Given the description of an element on the screen output the (x, y) to click on. 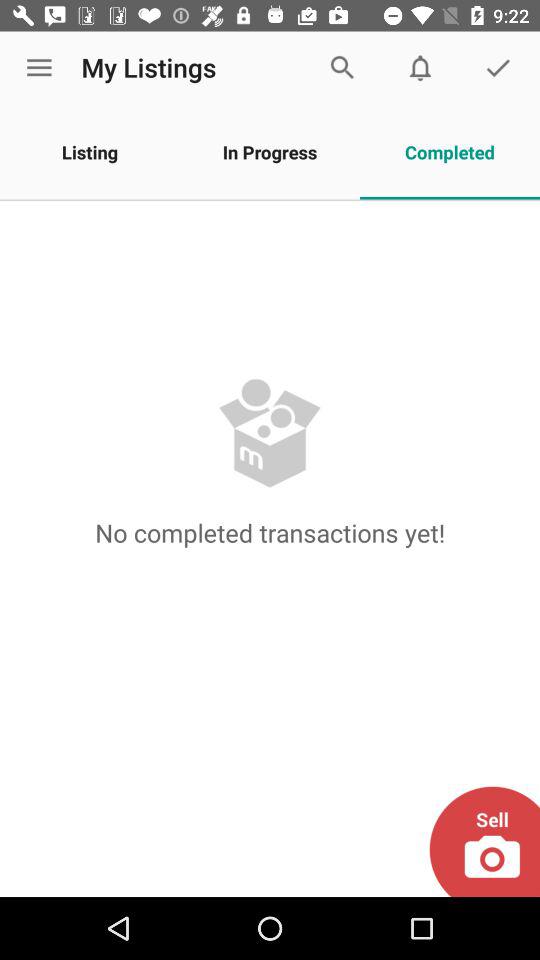
select the icon at the bottom right corner (484, 841)
